Given the description of an element on the screen output the (x, y) to click on. 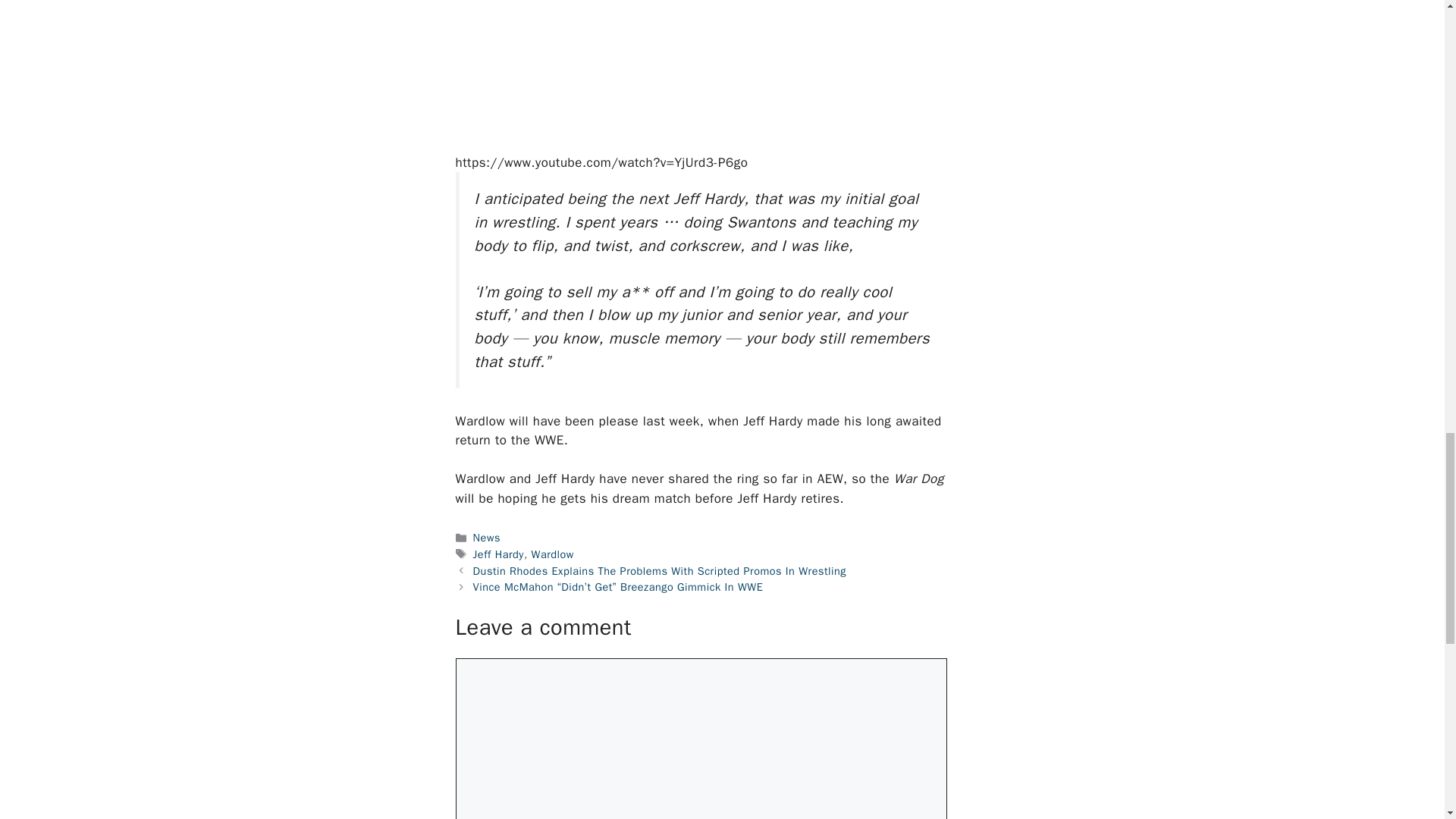
Jeff Hardy (498, 554)
News (486, 537)
Wardlow (552, 554)
